Given the description of an element on the screen output the (x, y) to click on. 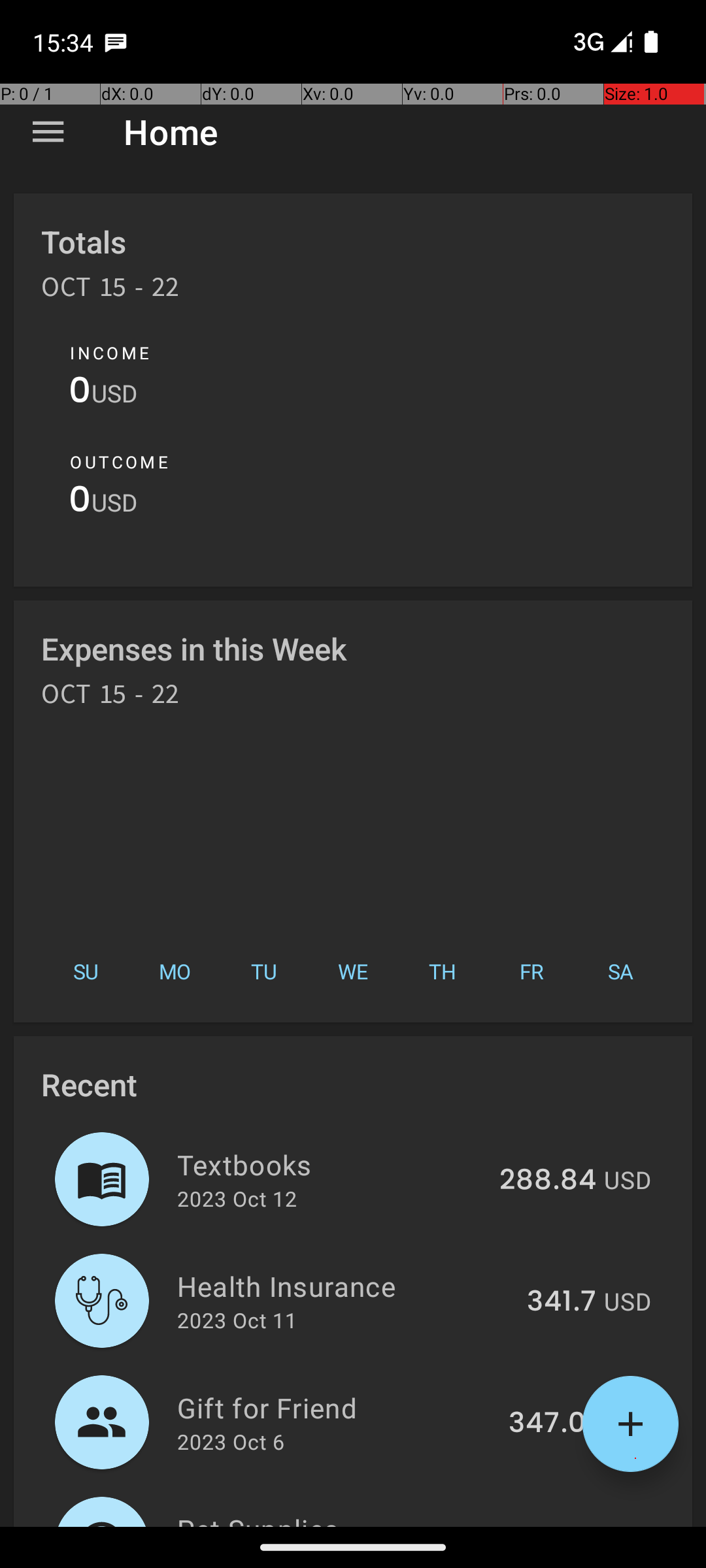
Textbooks Element type: android.widget.TextView (330, 1164)
288.84 Element type: android.widget.TextView (547, 1180)
Health Insurance Element type: android.widget.TextView (344, 1285)
2023 Oct 11 Element type: android.widget.TextView (236, 1320)
341.7 Element type: android.widget.TextView (561, 1301)
Gift for Friend Element type: android.widget.TextView (335, 1407)
2023 Oct 6 Element type: android.widget.TextView (230, 1441)
347.01 Element type: android.widget.TextView (551, 1423)
Pet Supplies Element type: android.widget.TextView (331, 1518)
293.83 Element type: android.widget.TextView (548, 1524)
